Given the description of an element on the screen output the (x, y) to click on. 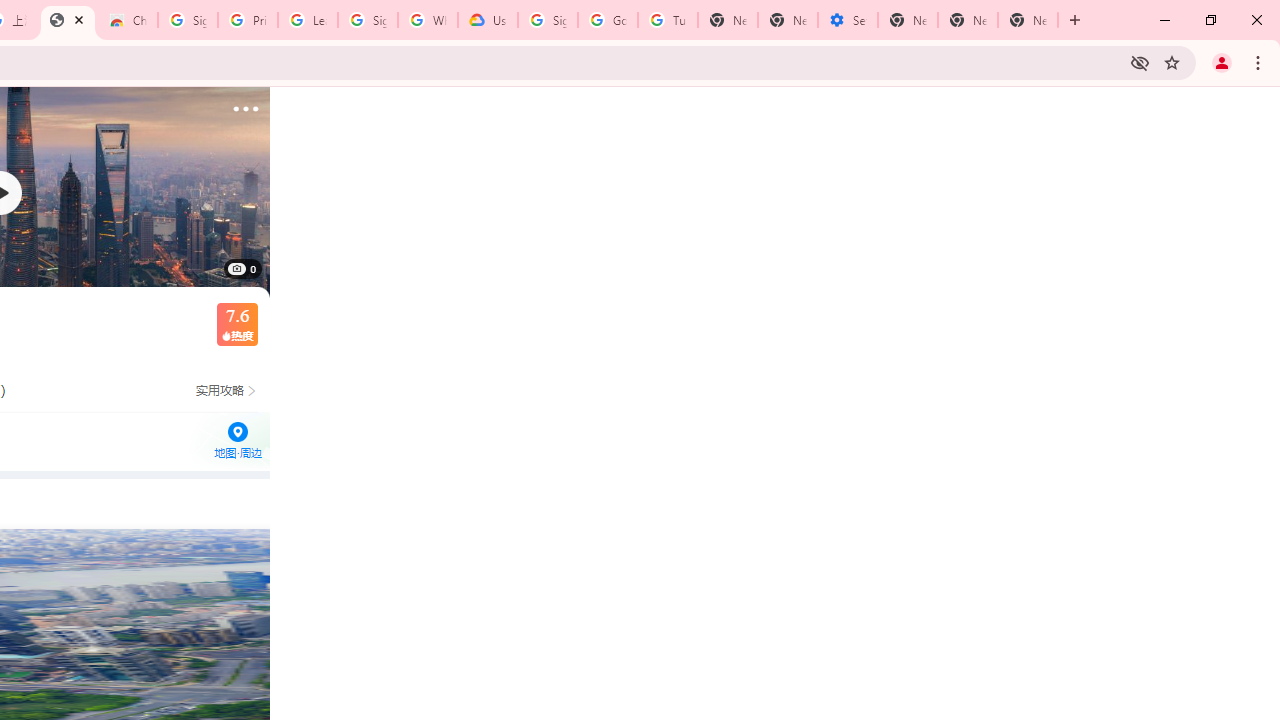
Sign in - Google Accounts (187, 20)
Third-party cookies blocked (1139, 62)
Settings - Addresses and more (847, 20)
Restore (1210, 20)
Minimize (1165, 20)
Close (79, 19)
You (1221, 62)
Turn cookies on or off - Computer - Google Account Help (667, 20)
Sign in - Google Accounts (548, 20)
New Tab (1075, 20)
Who are Google's partners? - Privacy and conditions - Google (428, 20)
Chrome Web Store (127, 20)
Bookmark this tab (1171, 62)
New Tab (908, 20)
